Given the description of an element on the screen output the (x, y) to click on. 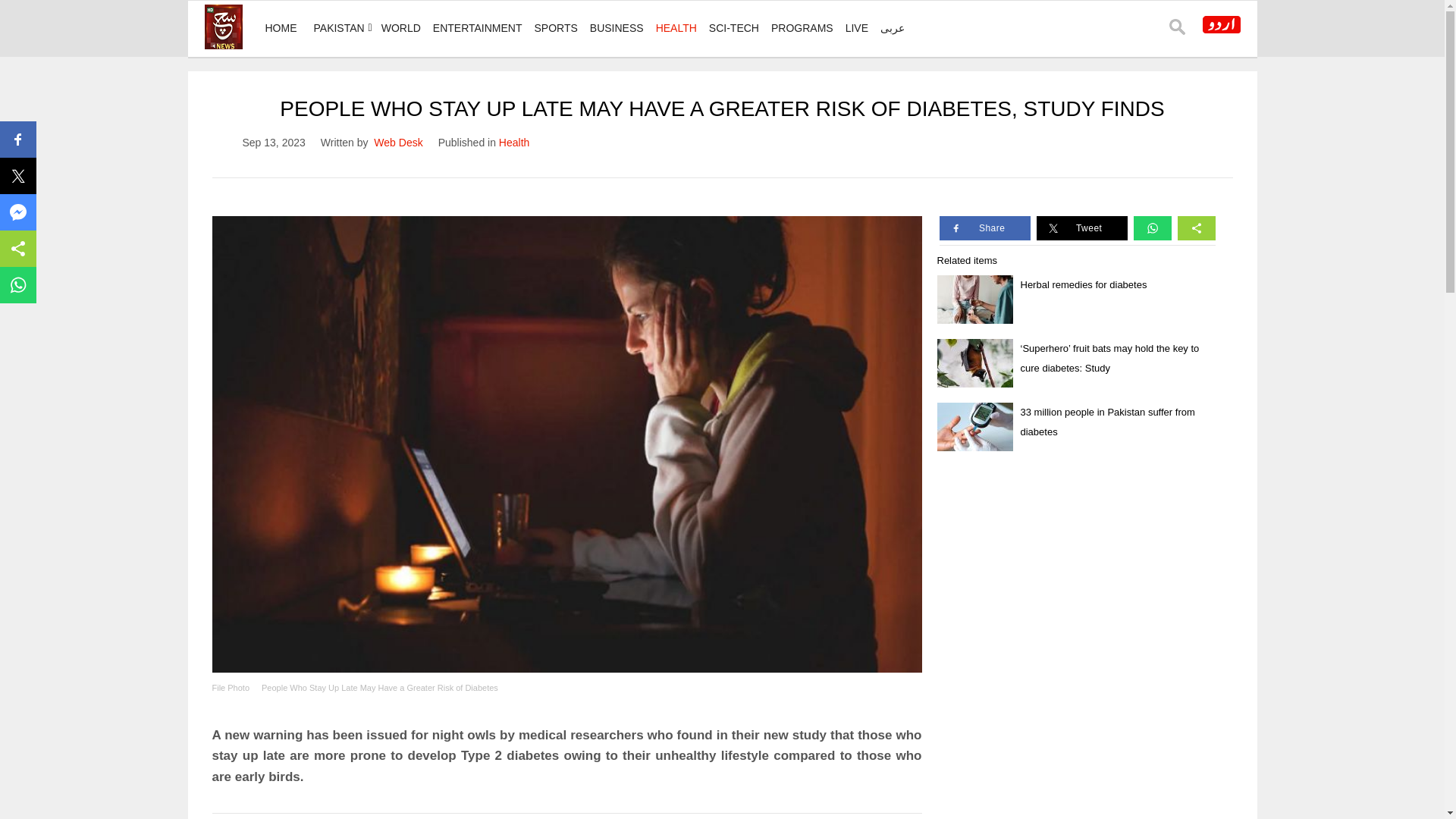
PAKISTAN (338, 27)
Herbal remedies for diabetes (1083, 284)
HEALTH (676, 27)
33 million people in Pakistan suffer from diabetes (1107, 421)
Web Desk (398, 142)
PROGRAMS (802, 27)
SCI-TECH (734, 27)
WORLD (400, 27)
ENTERTAINMENT (477, 27)
BUSINESS (616, 27)
Health (514, 142)
SPORTS (555, 27)
